Given the description of an element on the screen output the (x, y) to click on. 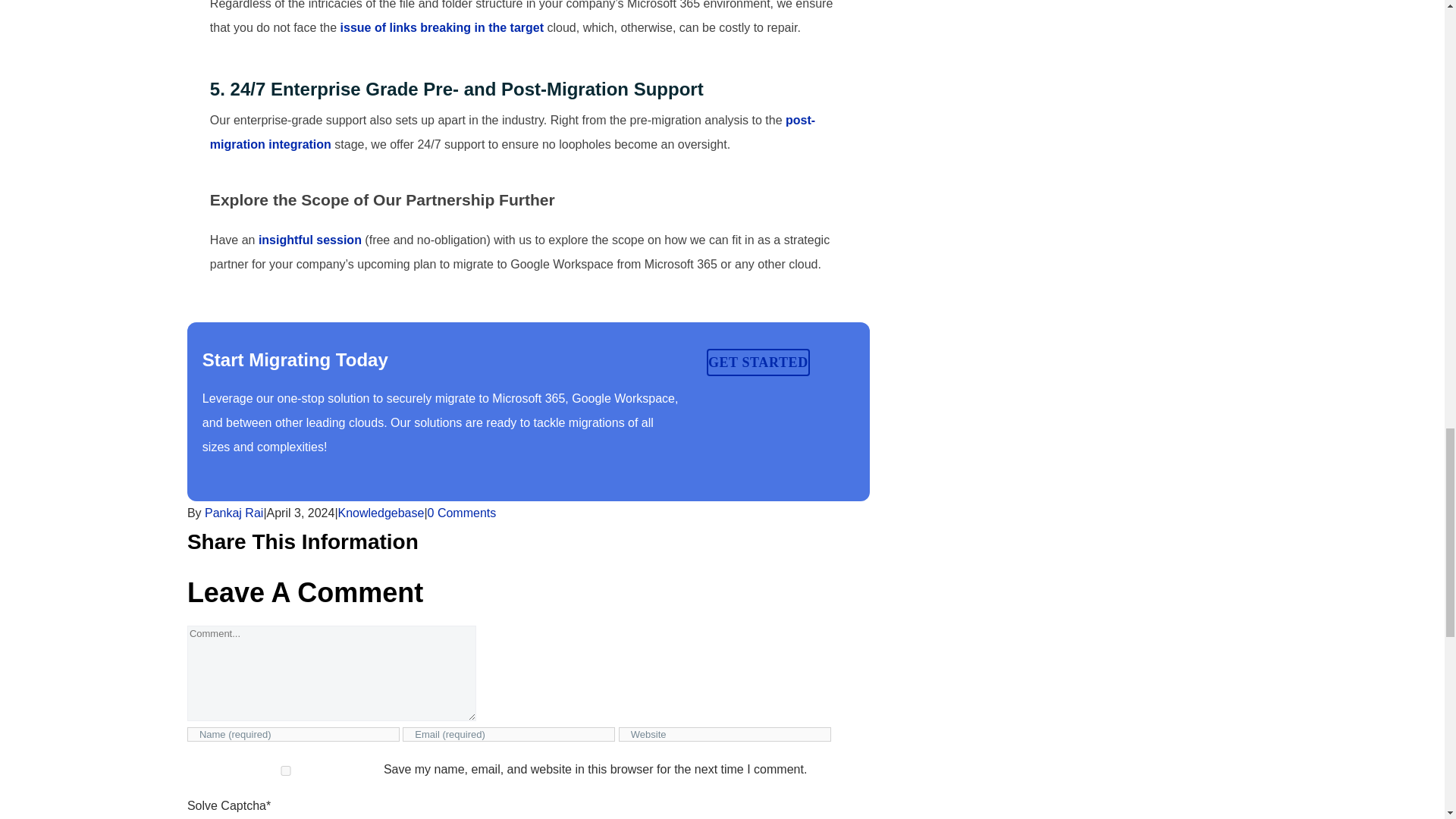
Posts by Pankaj Rai (234, 512)
yes (285, 770)
